Given the description of an element on the screen output the (x, y) to click on. 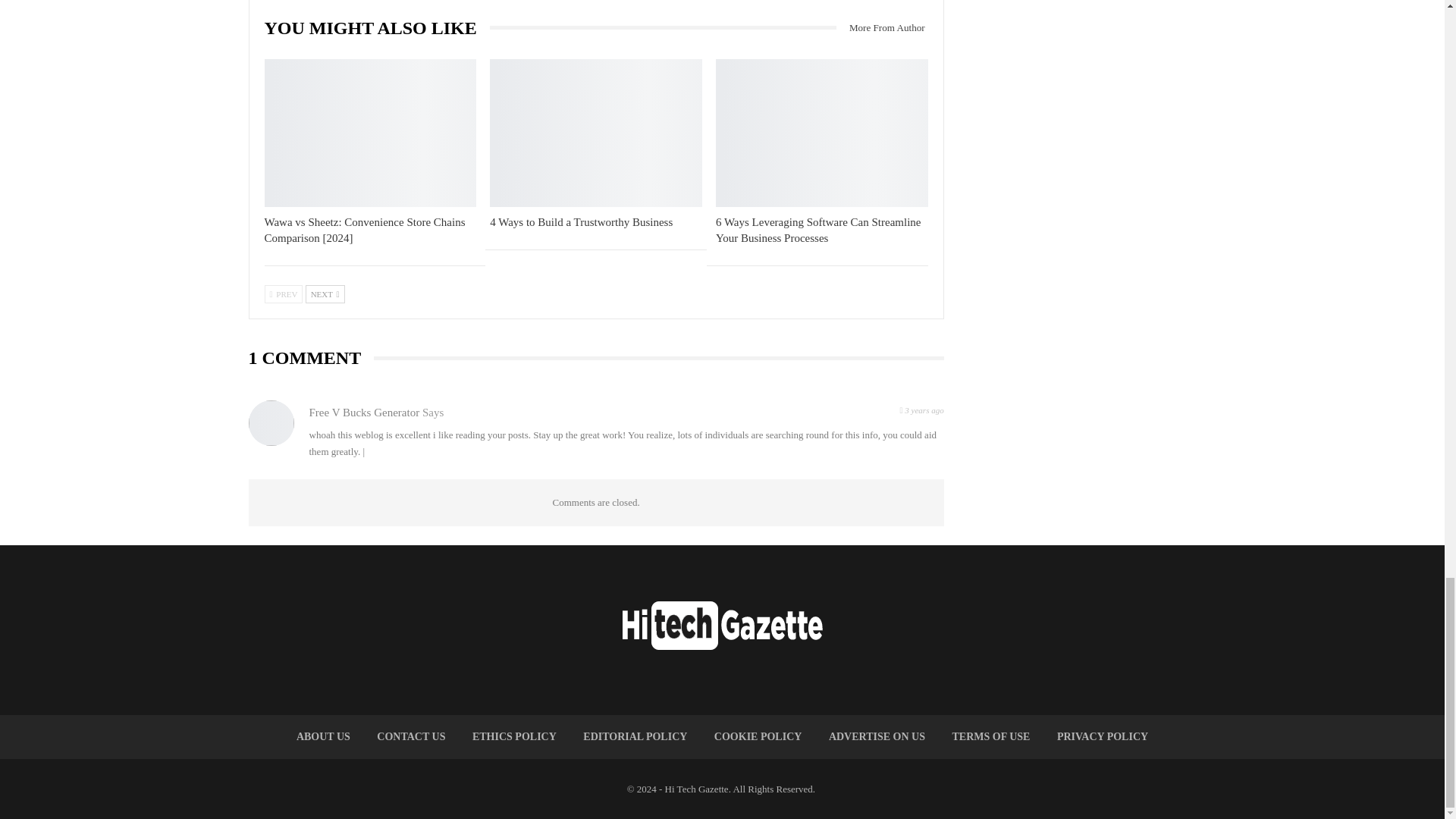
Previous (282, 294)
4 Ways to Build a Trustworthy Business (595, 133)
4 Ways to Build a Trustworthy Business (580, 222)
